Given the description of an element on the screen output the (x, y) to click on. 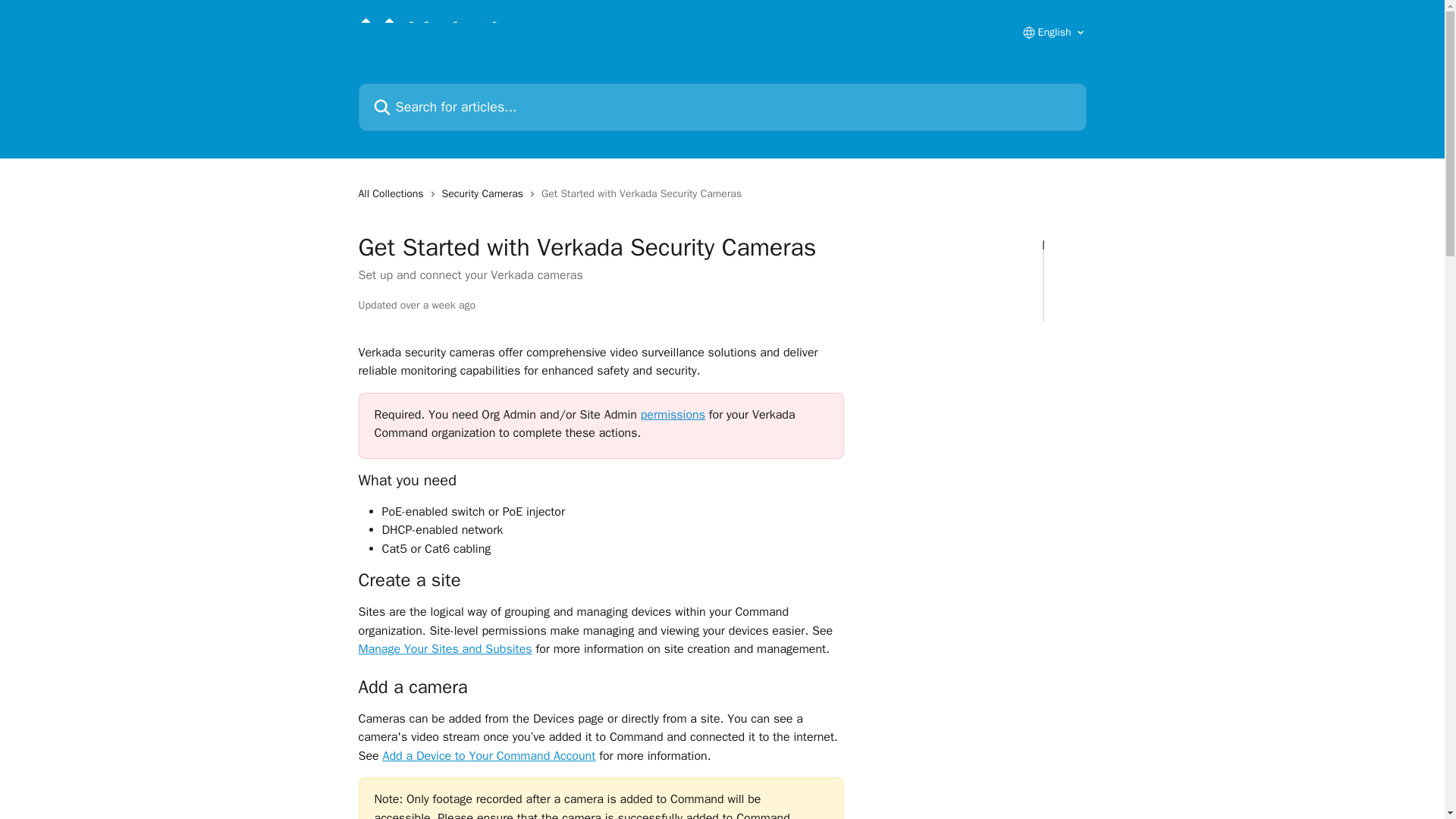
Security Cameras (485, 193)
All Collections (393, 193)
Manage Your Sites and Subsites (444, 648)
permissions (672, 414)
Add a Device to Your Command Account (488, 755)
